Given the description of an element on the screen output the (x, y) to click on. 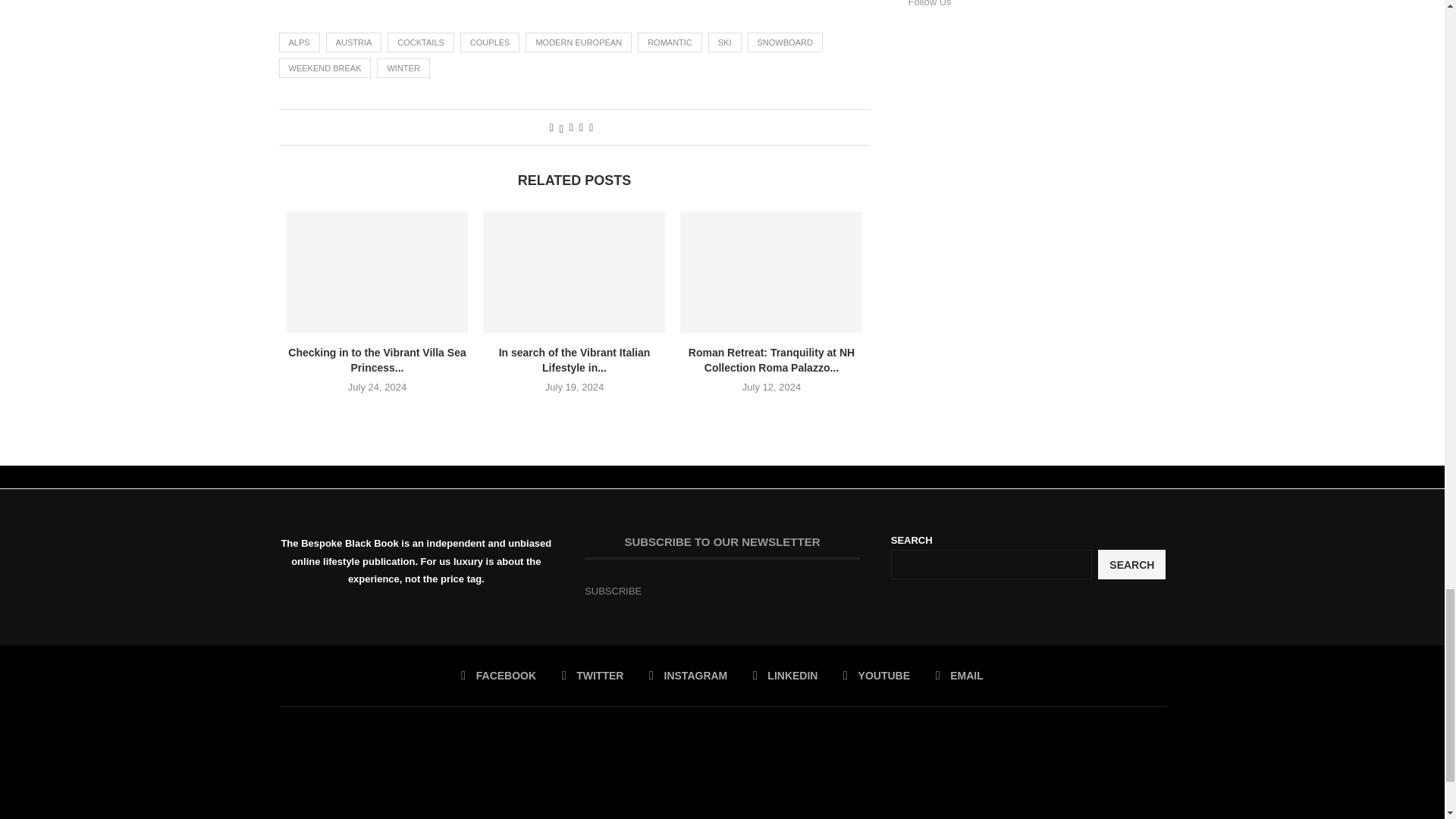
Checking in to the Vibrant Villa Sea Princess Nika (377, 271)
